Given the description of an element on the screen output the (x, y) to click on. 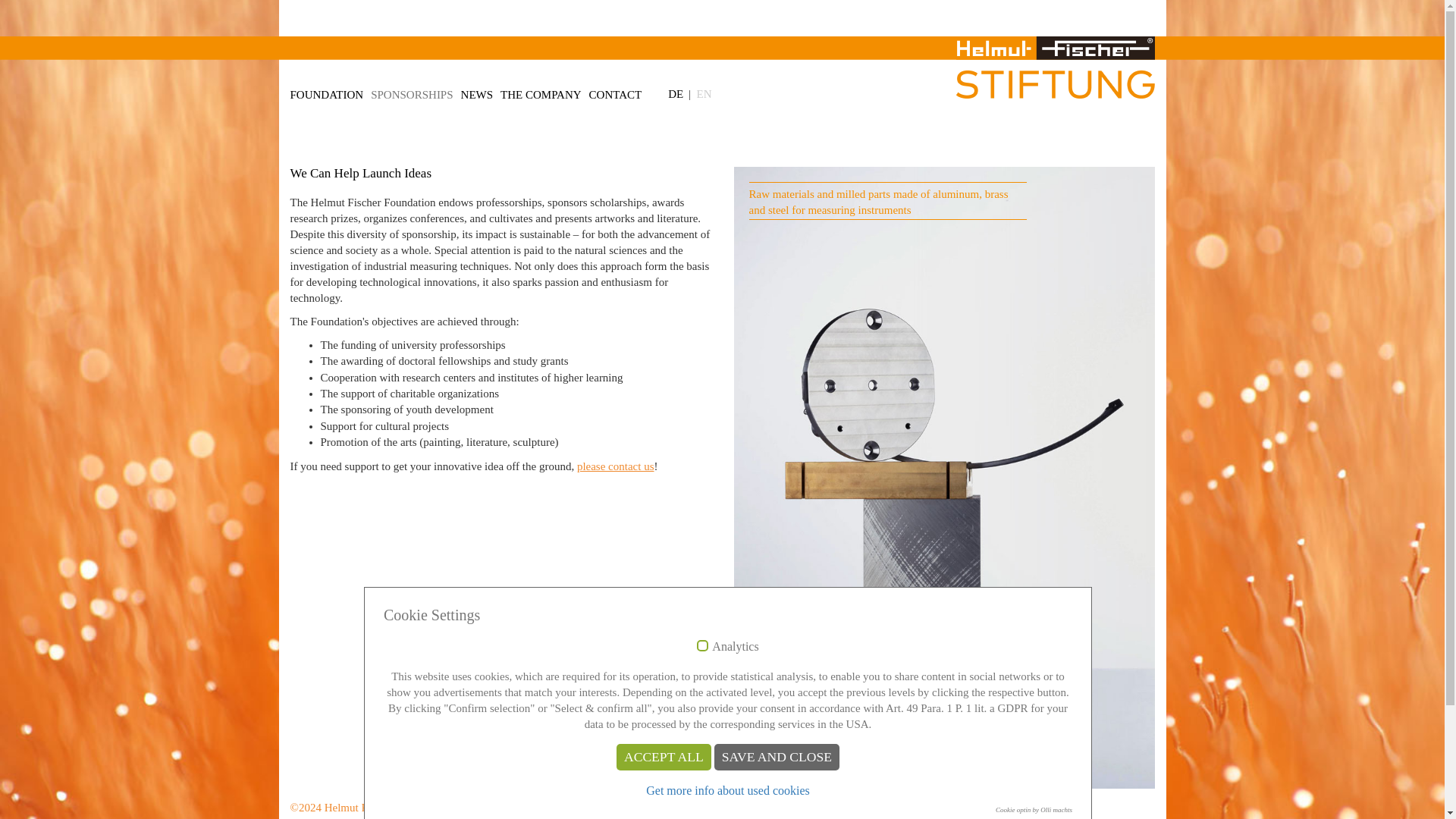
Privacy Policy (535, 807)
FOUNDATION (330, 91)
Opens internal link in current window (614, 466)
CONTACT (619, 91)
ACCEPT ALL (663, 756)
Imprint (478, 807)
NEWS (480, 91)
SPONSORSHIPS (415, 91)
please contact us (614, 466)
SAVE AND CLOSE (777, 756)
Cookie optin by Olli machts (1033, 809)
THE COMPANY (544, 91)
Get more info about used cookies (727, 789)
